Given the description of an element on the screen output the (x, y) to click on. 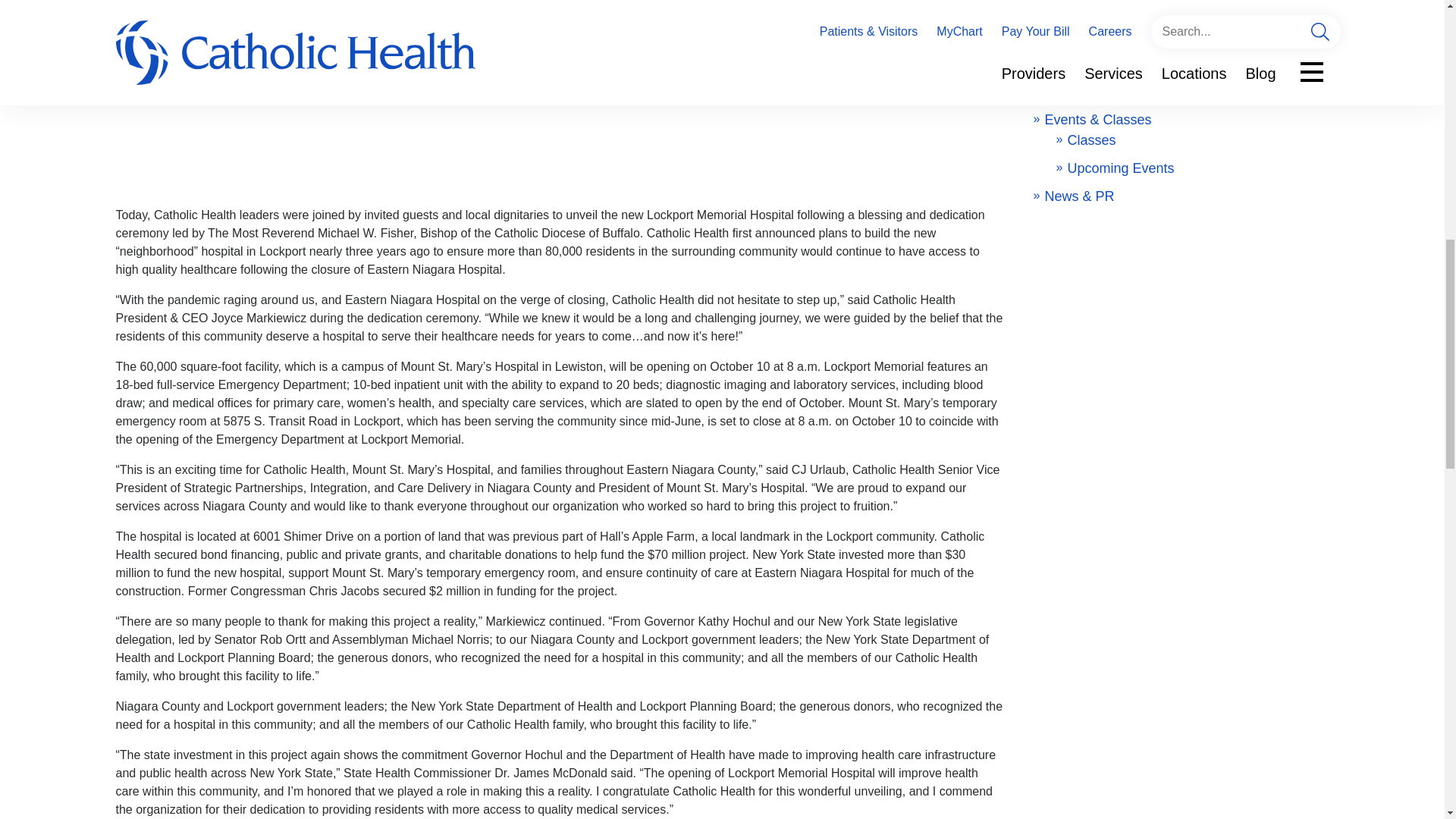
Classes (1091, 140)
Exercise (1093, 35)
Healthy Living (1088, 14)
Upcoming Events (1120, 168)
Smart Eating (1107, 91)
Nutrition (1092, 63)
